Given the description of an element on the screen output the (x, y) to click on. 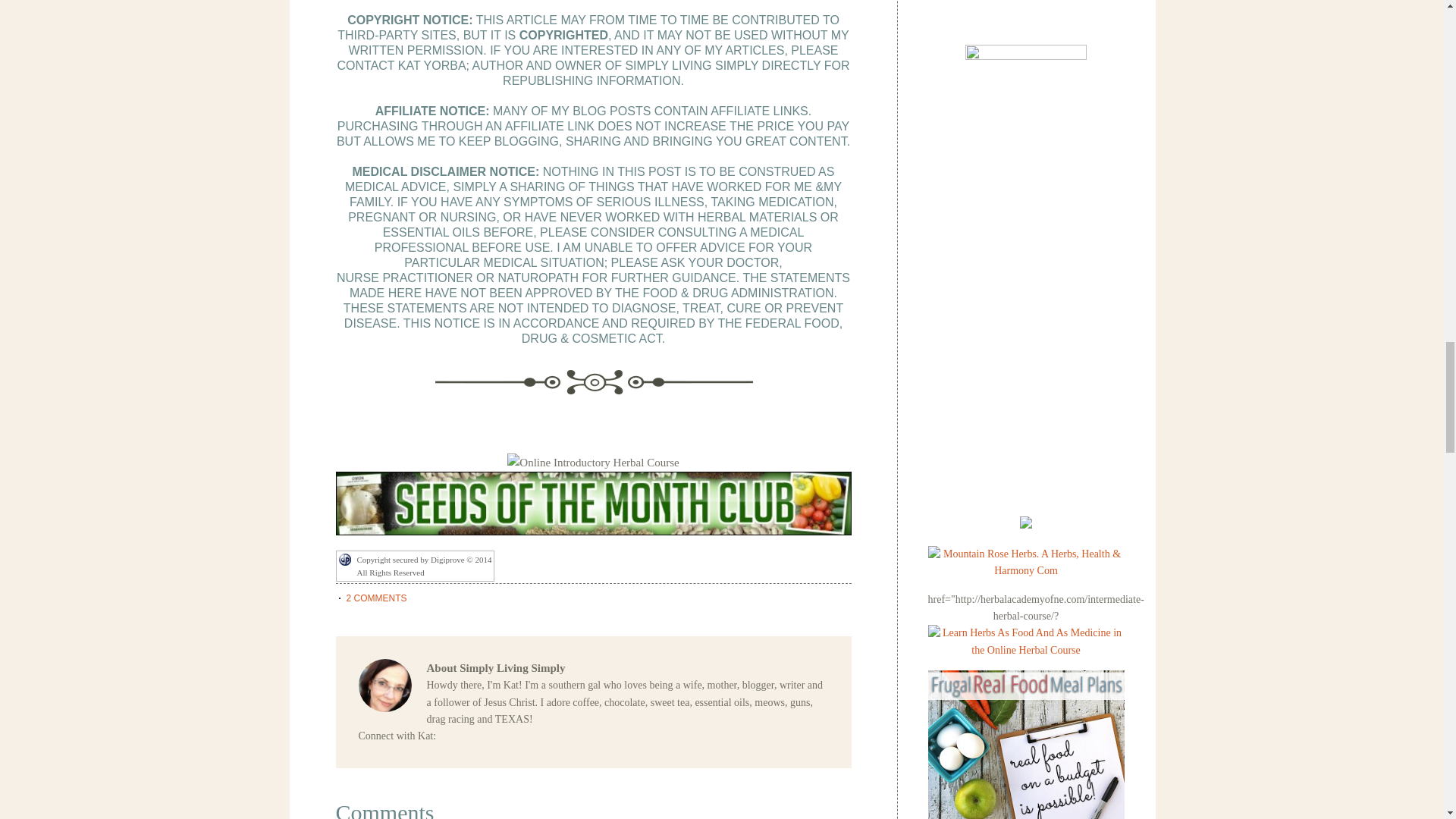
Click to see details of license (414, 572)
2 COMMENTS (376, 597)
All Rights Reserved (414, 572)
